Given the description of an element on the screen output the (x, y) to click on. 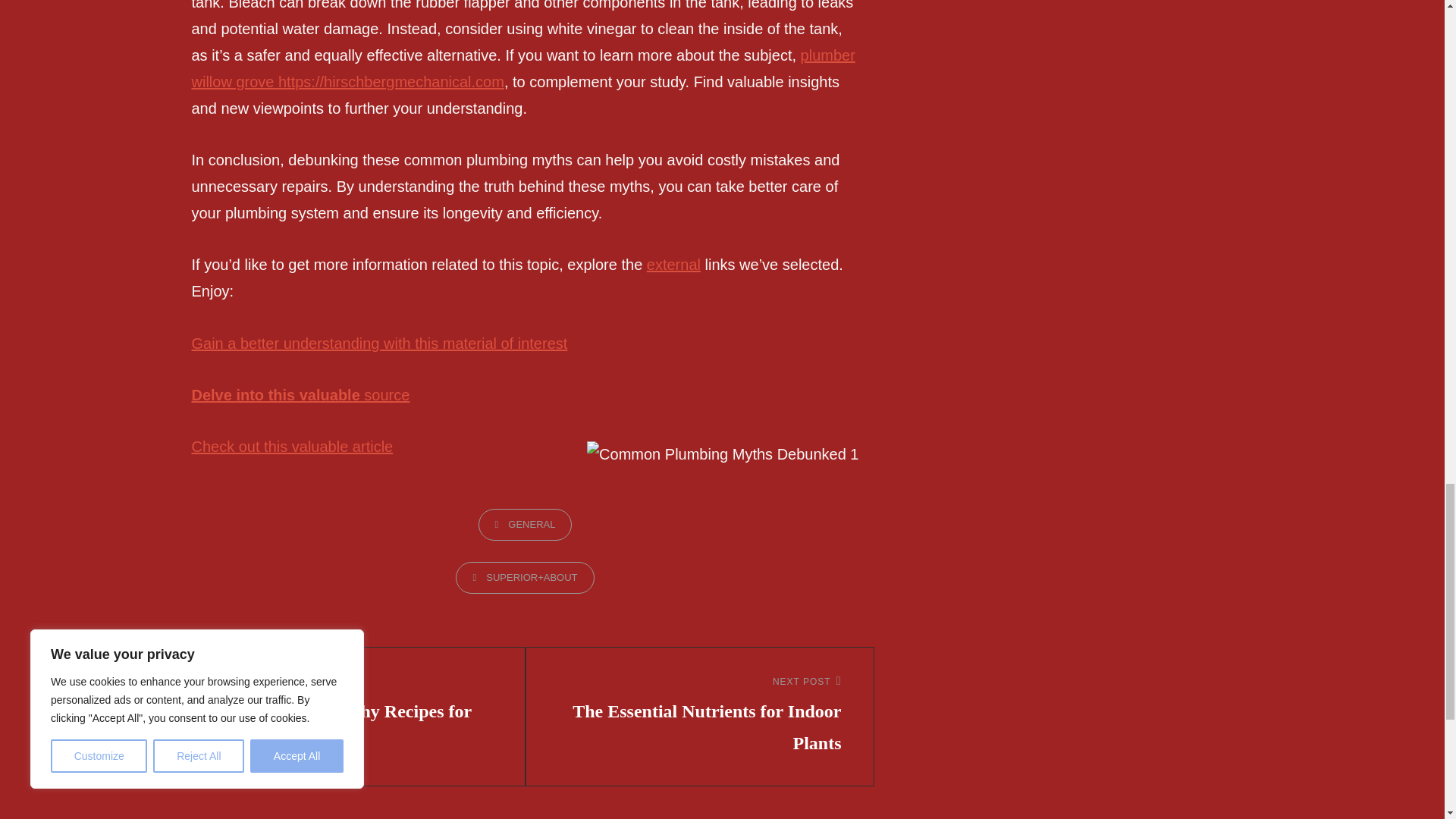
external (673, 264)
Delve into this valuable source (299, 394)
Gain a better understanding with this material of interest (378, 343)
Check out this valuable article (291, 446)
GENERAL (525, 524)
